Given the description of an element on the screen output the (x, y) to click on. 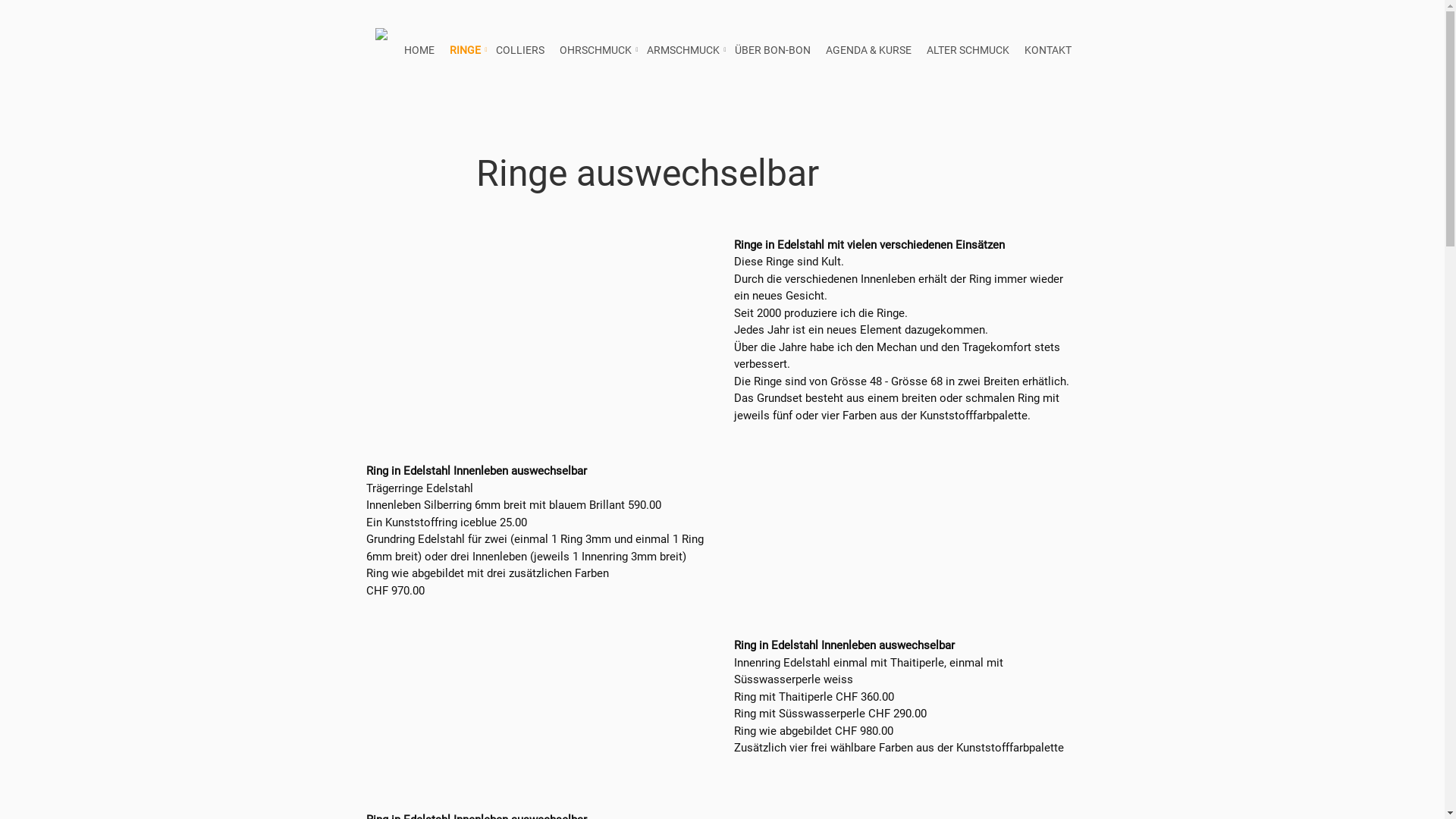
ARMSCHMUCK Element type: text (682, 50)
ALTER SCHMUCK Element type: text (967, 50)
KONTAKT Element type: text (1047, 50)
AGENDA & KURSE Element type: text (867, 50)
HOME Element type: text (418, 50)
RINGE Element type: text (464, 50)
COLLIERS Element type: text (520, 50)
OHRSCHMUCK Element type: text (595, 50)
